Given the description of an element on the screen output the (x, y) to click on. 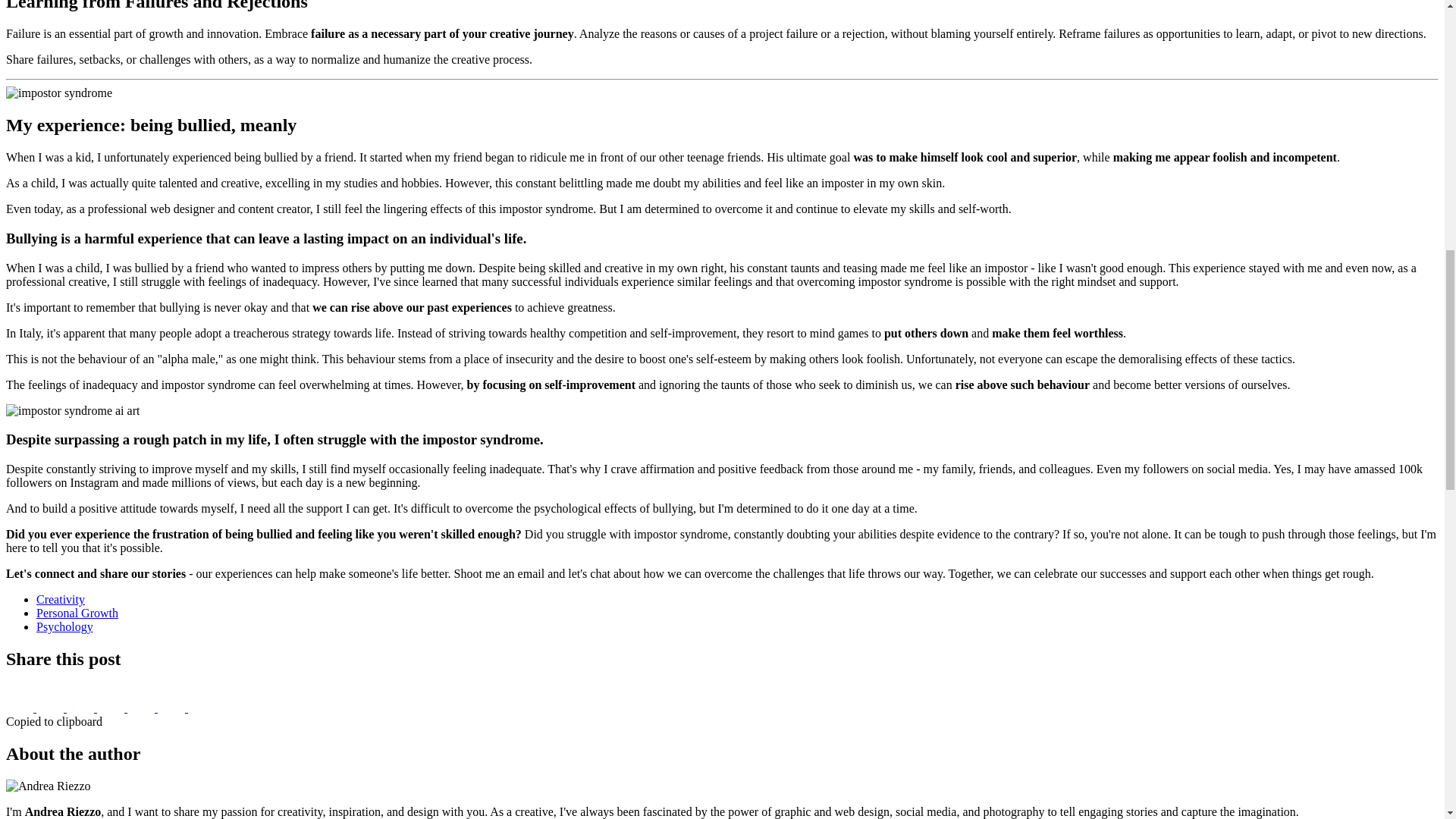
Creativity (60, 599)
Share to Facebook (20, 707)
Psychology (64, 626)
Share to Linkedin (112, 707)
Andrea the author of this Blog (47, 786)
Share to Reddit (142, 707)
Personal Growth (76, 612)
Share to WhatsApp (81, 707)
Share to X (51, 707)
Share to Email (172, 707)
